Given the description of an element on the screen output the (x, y) to click on. 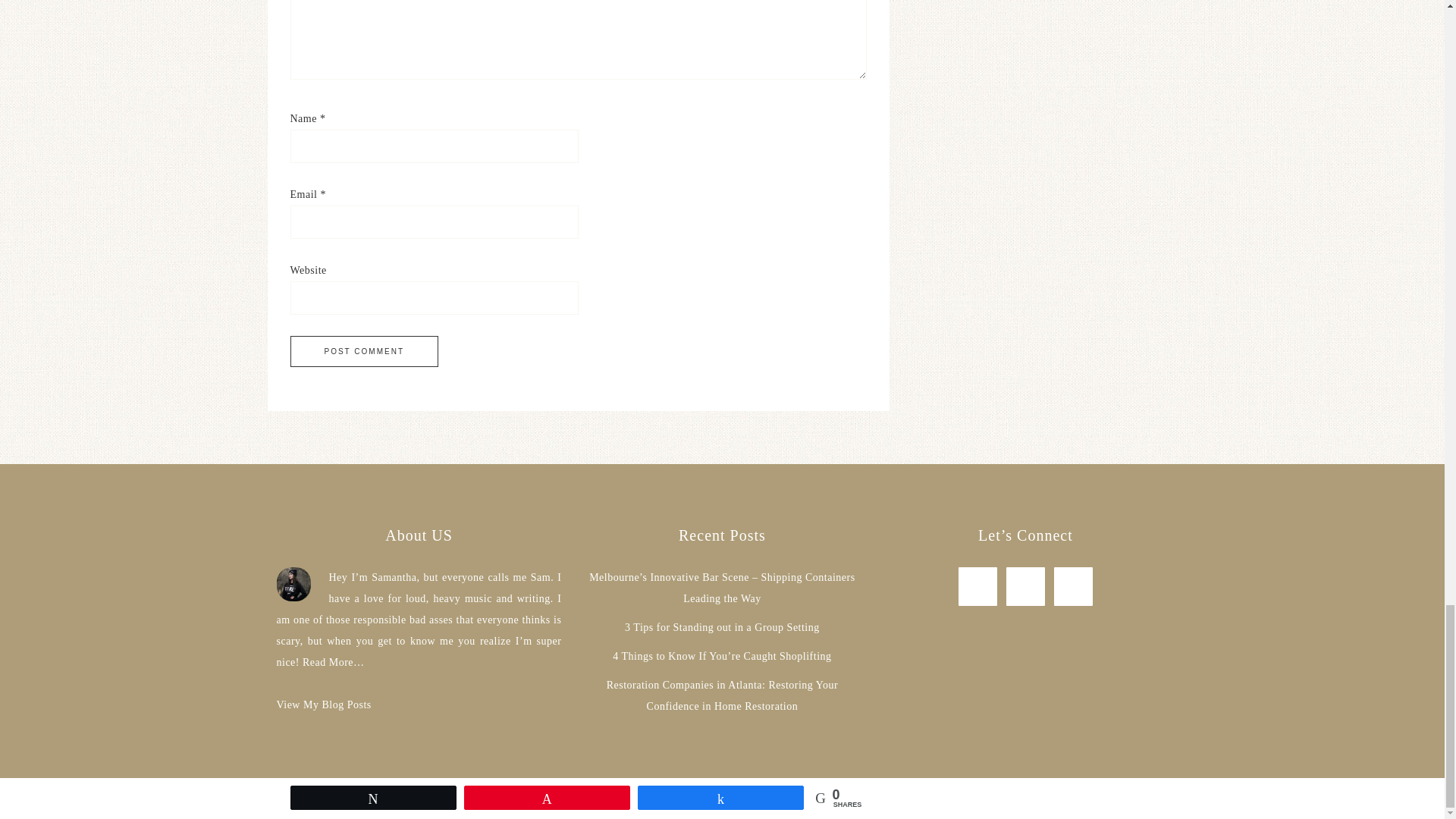
Post Comment (363, 350)
Post Comment (363, 350)
